Given the description of an element on the screen output the (x, y) to click on. 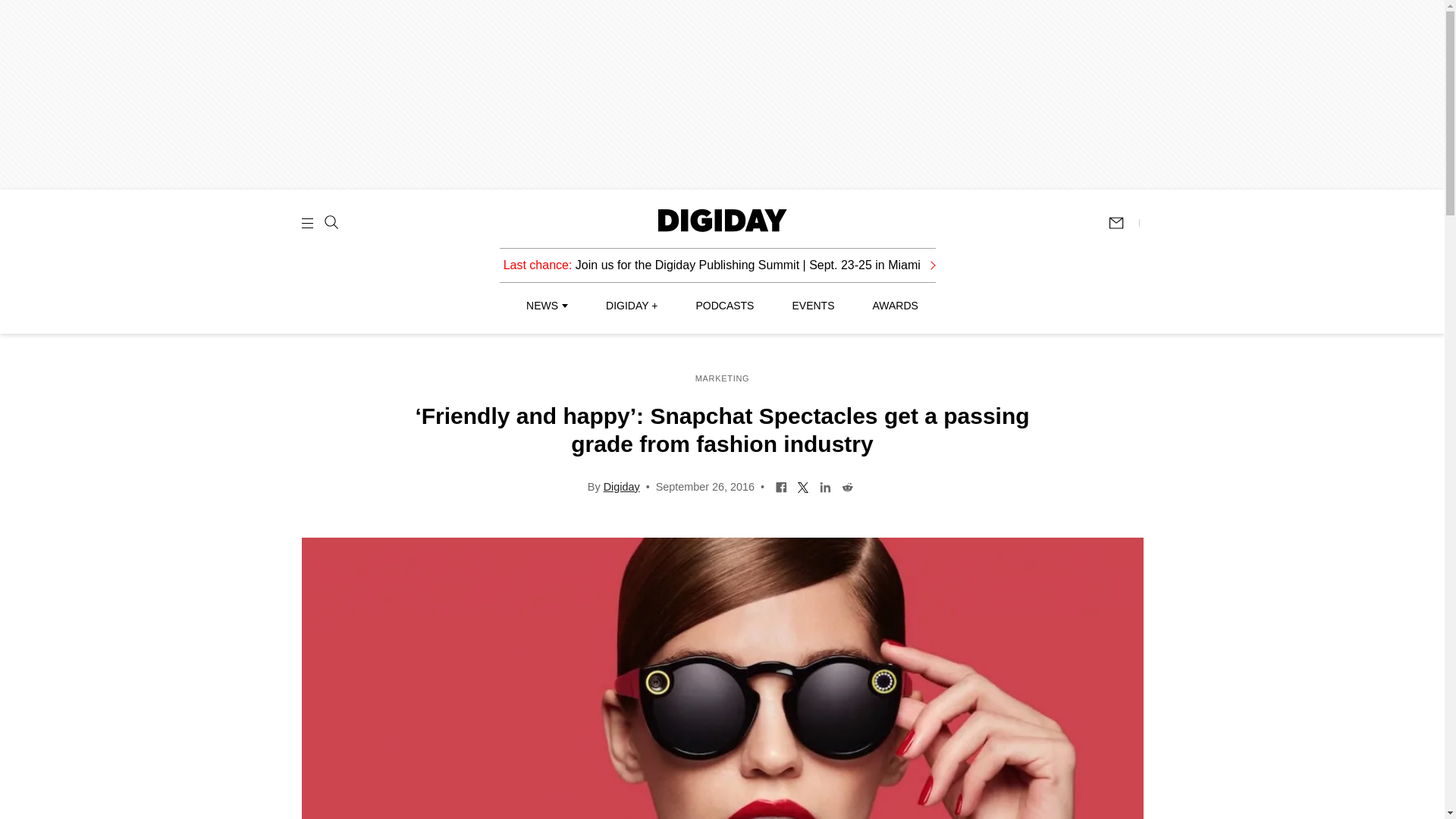
AWARDS (894, 305)
NEWS (546, 305)
Subscribe (1123, 223)
EVENTS (813, 305)
Share on Reddit (847, 485)
Share on LinkedIn (824, 485)
PODCASTS (725, 305)
Share on Twitter (802, 485)
Share on Facebook (780, 485)
